Given the description of an element on the screen output the (x, y) to click on. 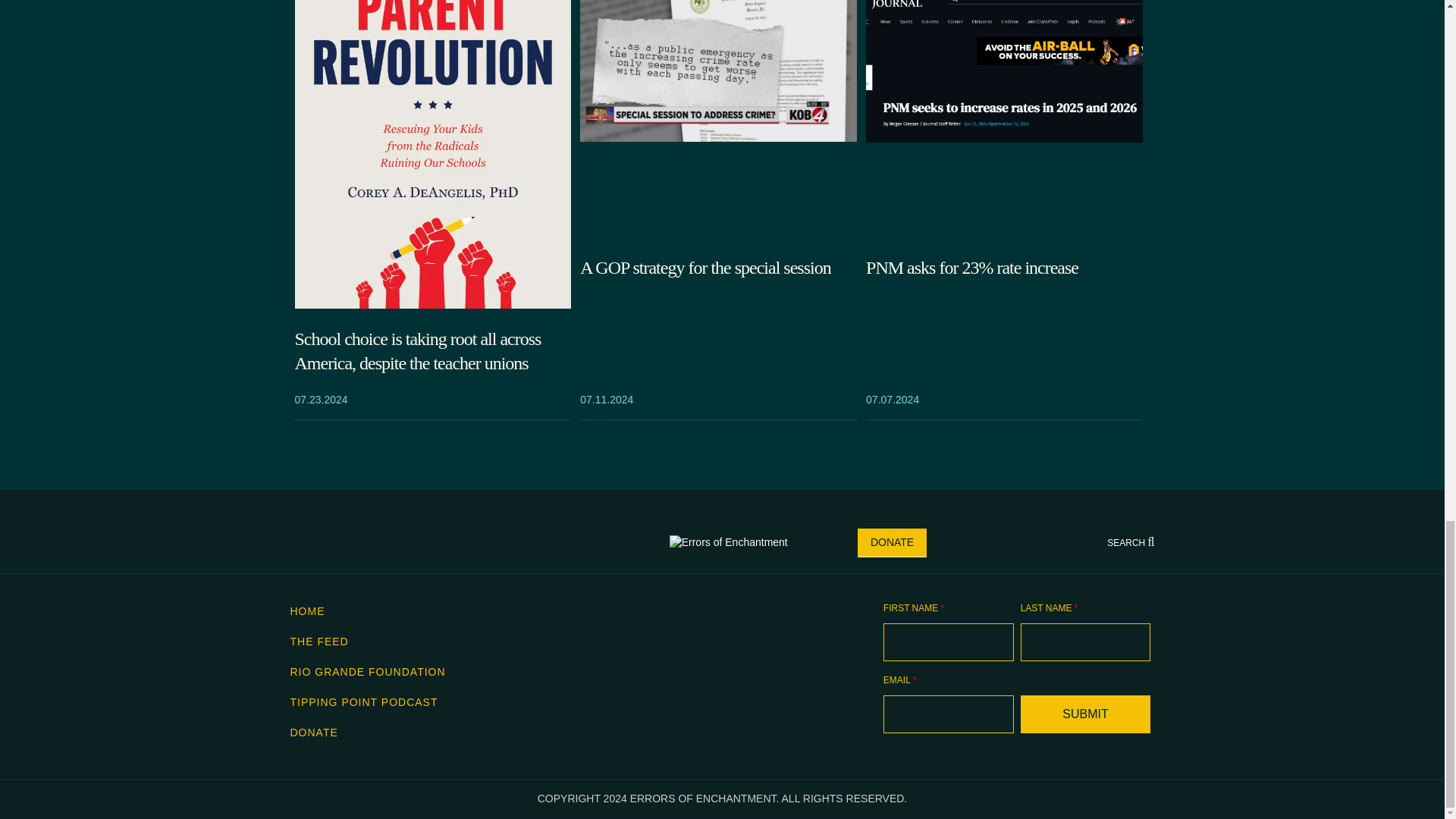
DONATE (313, 732)
THE FEED (318, 641)
RIO GRANDE FOUNDATION (367, 671)
Submit (1085, 714)
Submit (1085, 714)
DONATE (891, 542)
HOME (306, 611)
SEARCH (1130, 542)
TIPPING POINT PODCAST (363, 702)
A GOP strategy for the special session (718, 267)
